Given the description of an element on the screen output the (x, y) to click on. 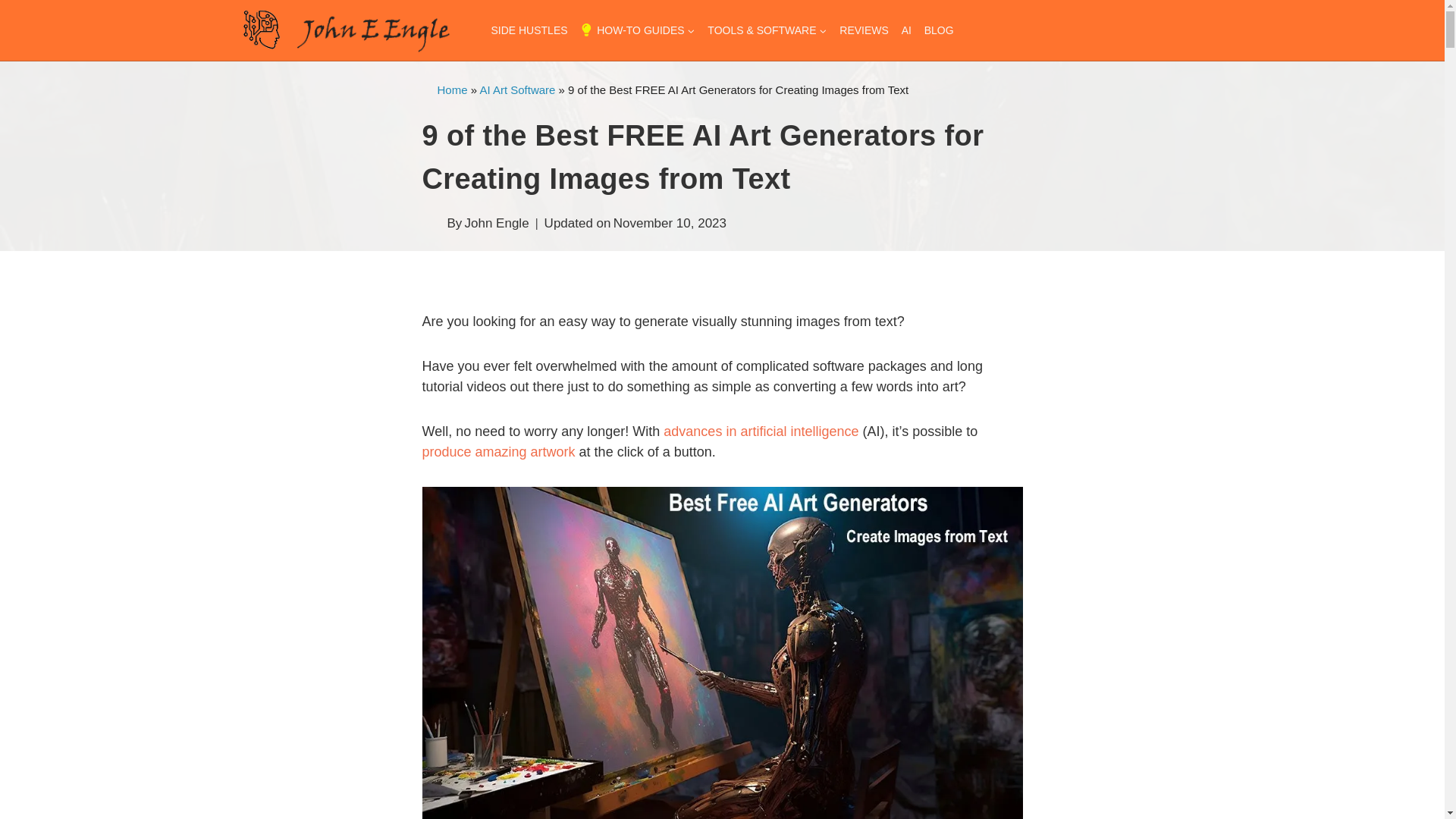
REVIEWS (863, 30)
SIDE HUSTLES (528, 30)
HOW-TO GUIDES (637, 30)
